Given the description of an element on the screen output the (x, y) to click on. 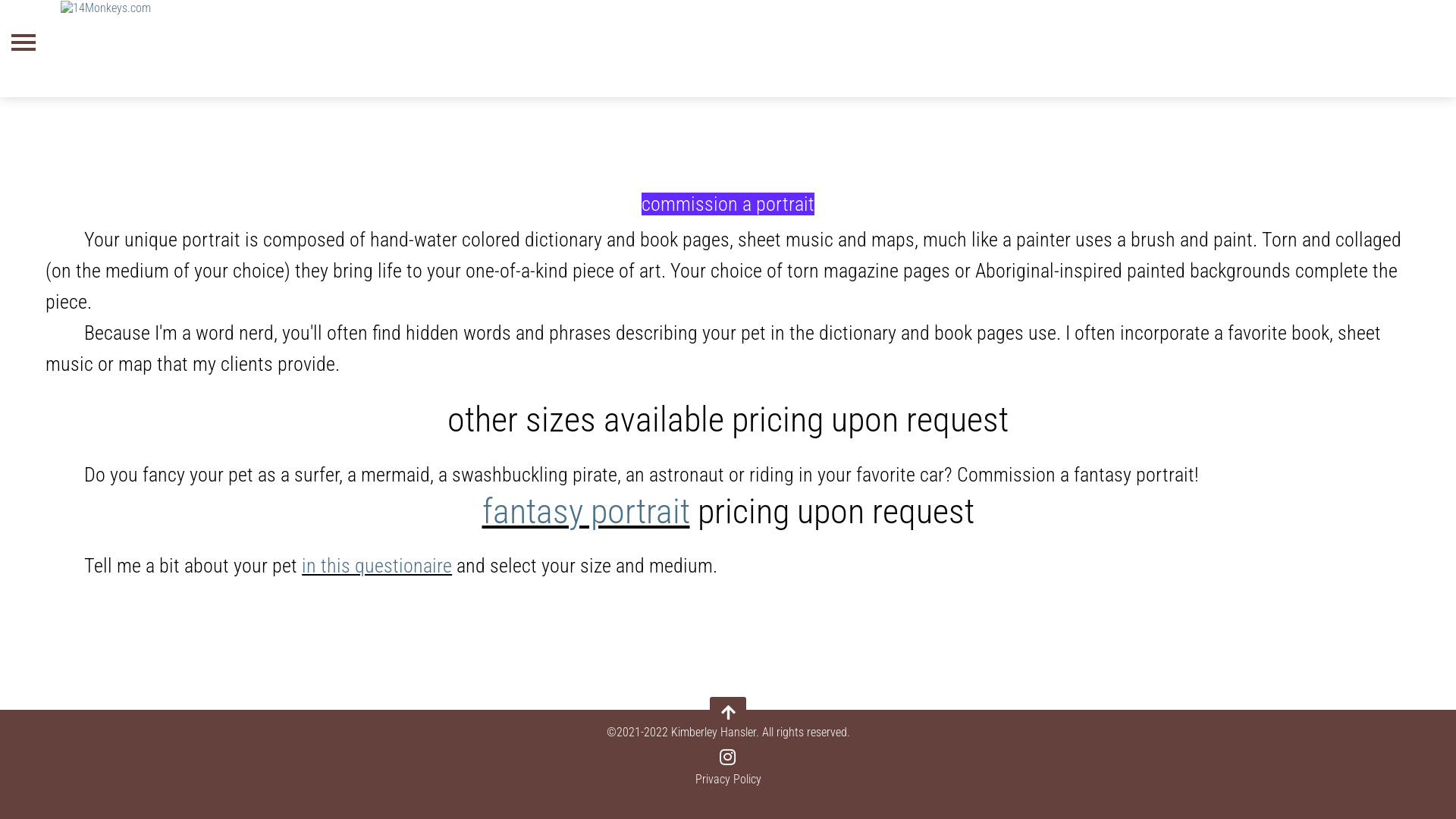
in this questionaire Element type: text (376, 565)
commission a portrait Element type: text (727, 203)
fantasy portrait Element type: text (586, 510)
Privacy Policy Element type: text (727, 778)
